Given the description of an element on the screen output the (x, y) to click on. 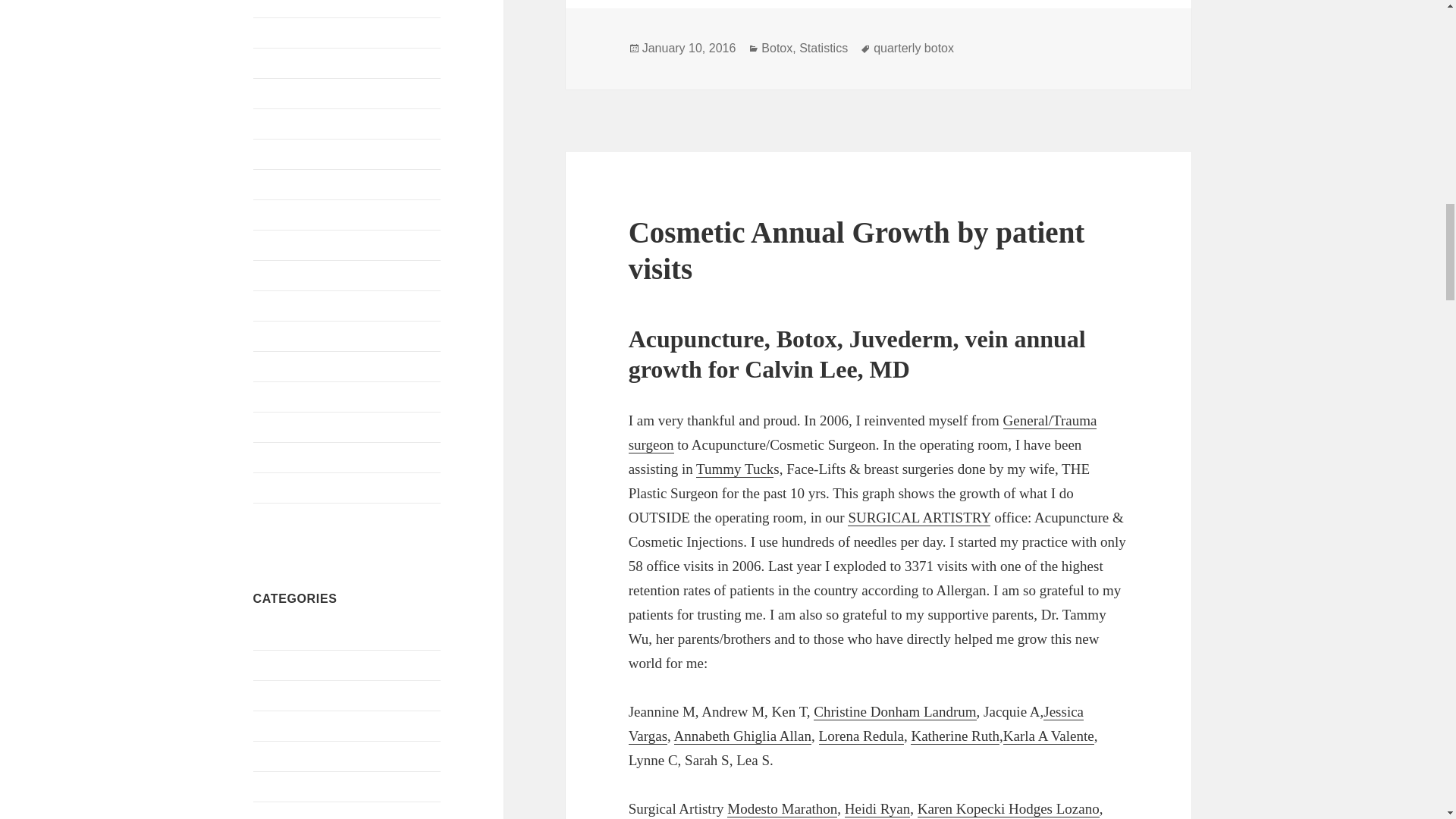
October 2016 (286, 4)
August 2016 (284, 62)
September 2016 (292, 31)
